Given the description of an element on the screen output the (x, y) to click on. 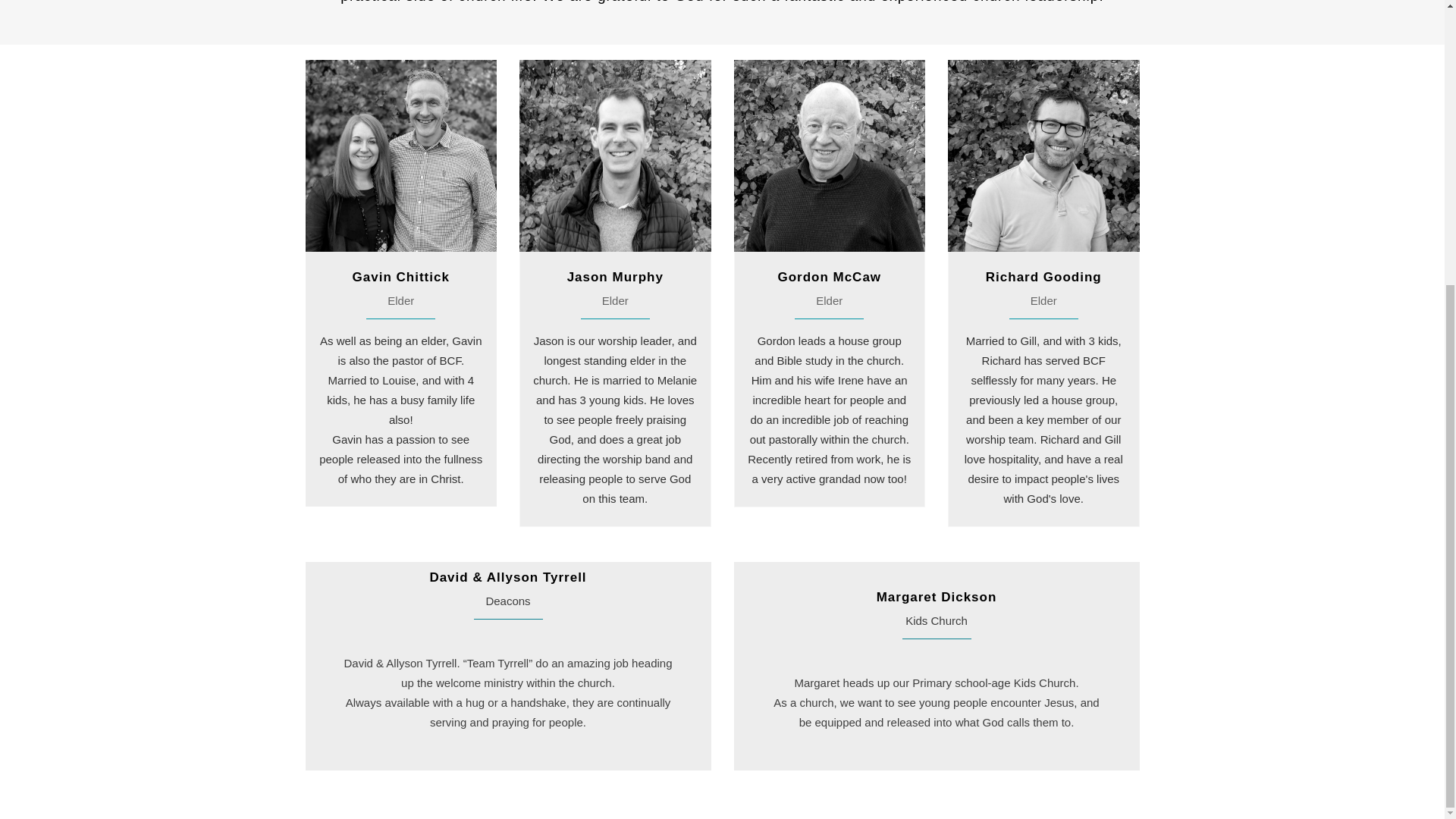
Privacy Policy (689, 366)
Terms of Use (757, 366)
